Given the description of an element on the screen output the (x, y) to click on. 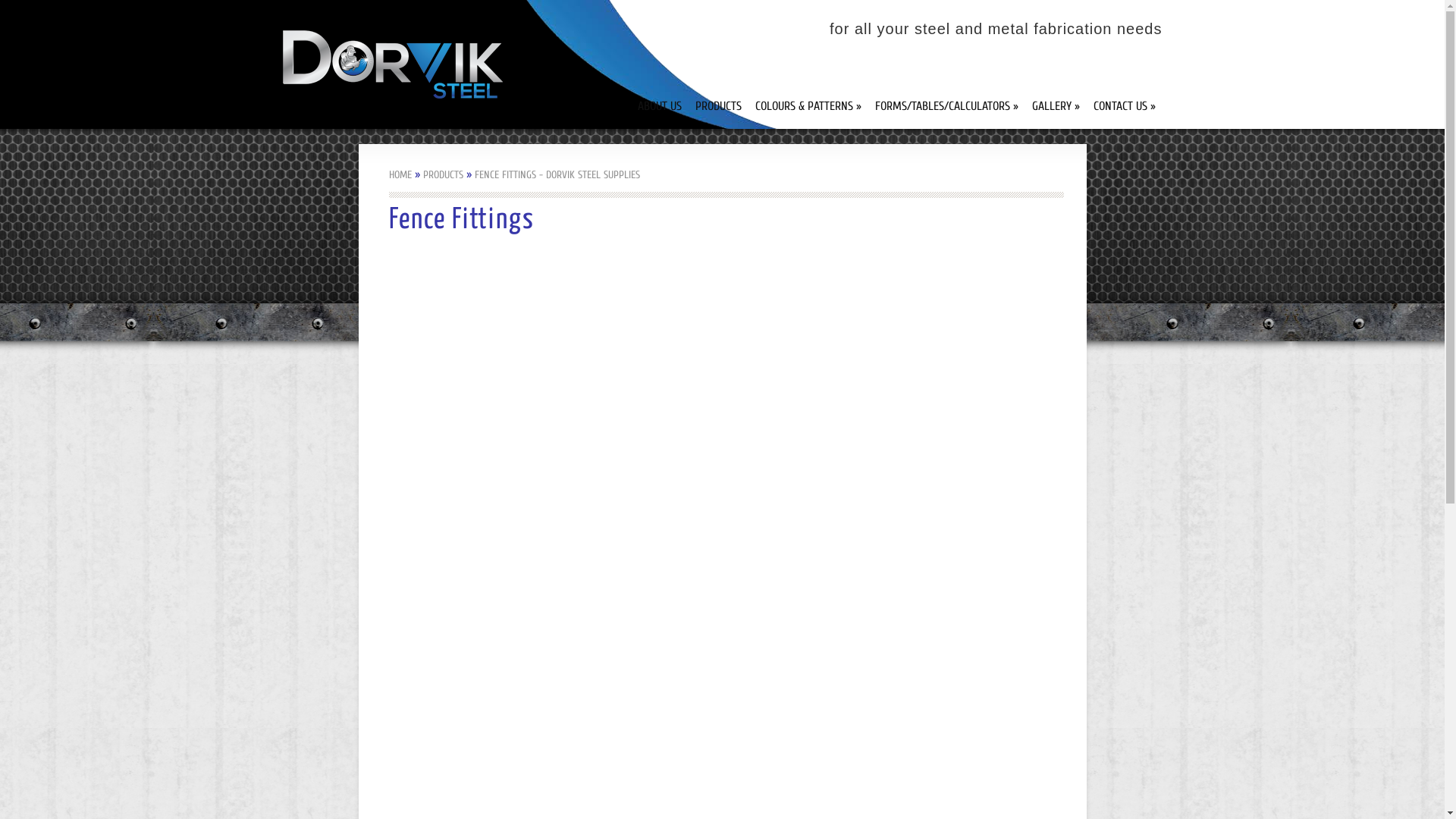
FENCE FITTINGS - DORVIK STEEL SUPPLIES Element type: text (557, 174)
Dorvik Steel Supplies, Tuncurry NSW Element type: hover (392, 64)
ABOUT US Element type: text (658, 105)
PRODUCTS Element type: text (443, 174)
HOME Element type: text (399, 174)
PRODUCTS Element type: text (717, 105)
